Given the description of an element on the screen output the (x, y) to click on. 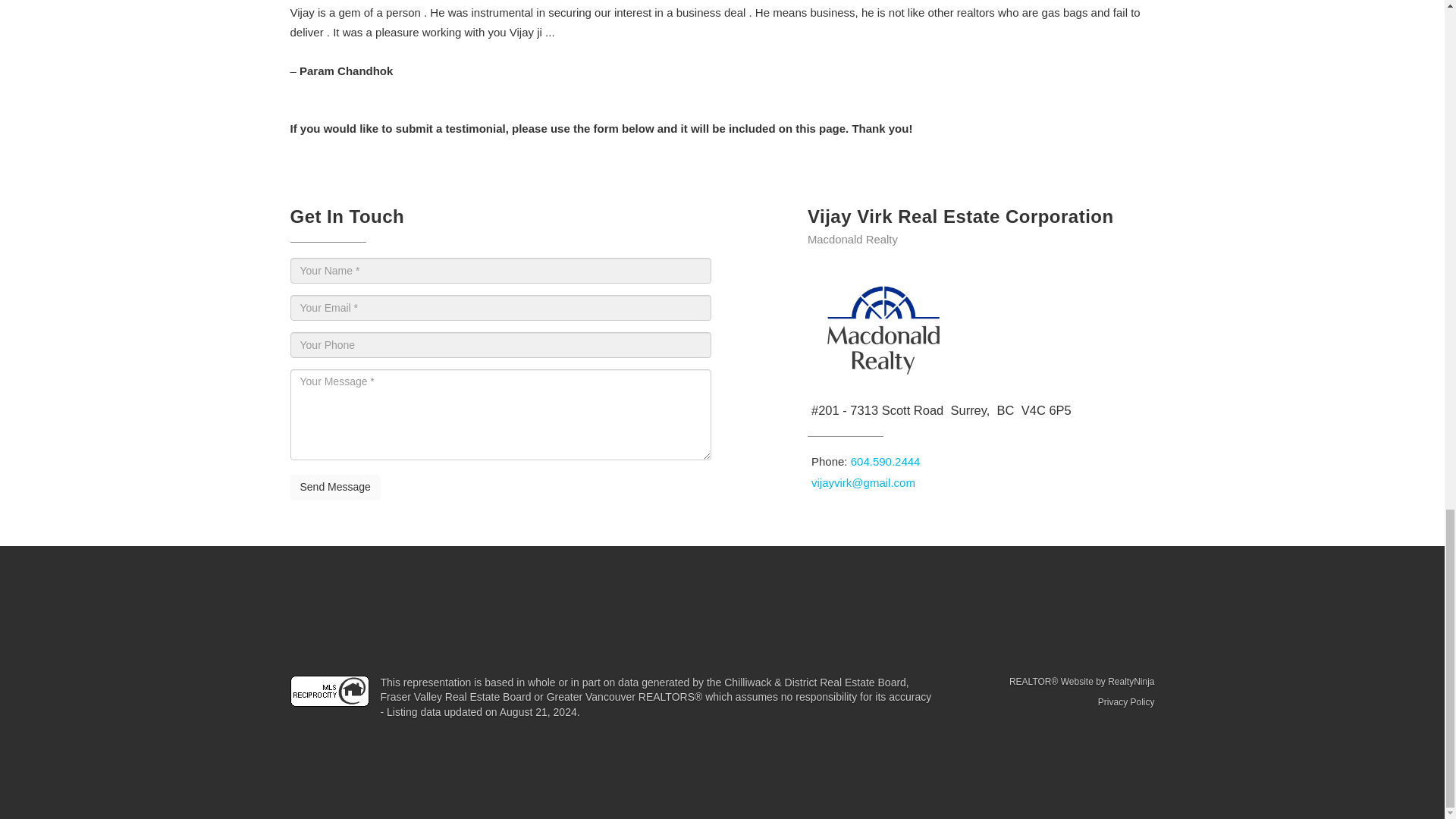
Send Message (334, 487)
Privacy Policy (1125, 701)
604.590.2444 (885, 461)
